Given the description of an element on the screen output the (x, y) to click on. 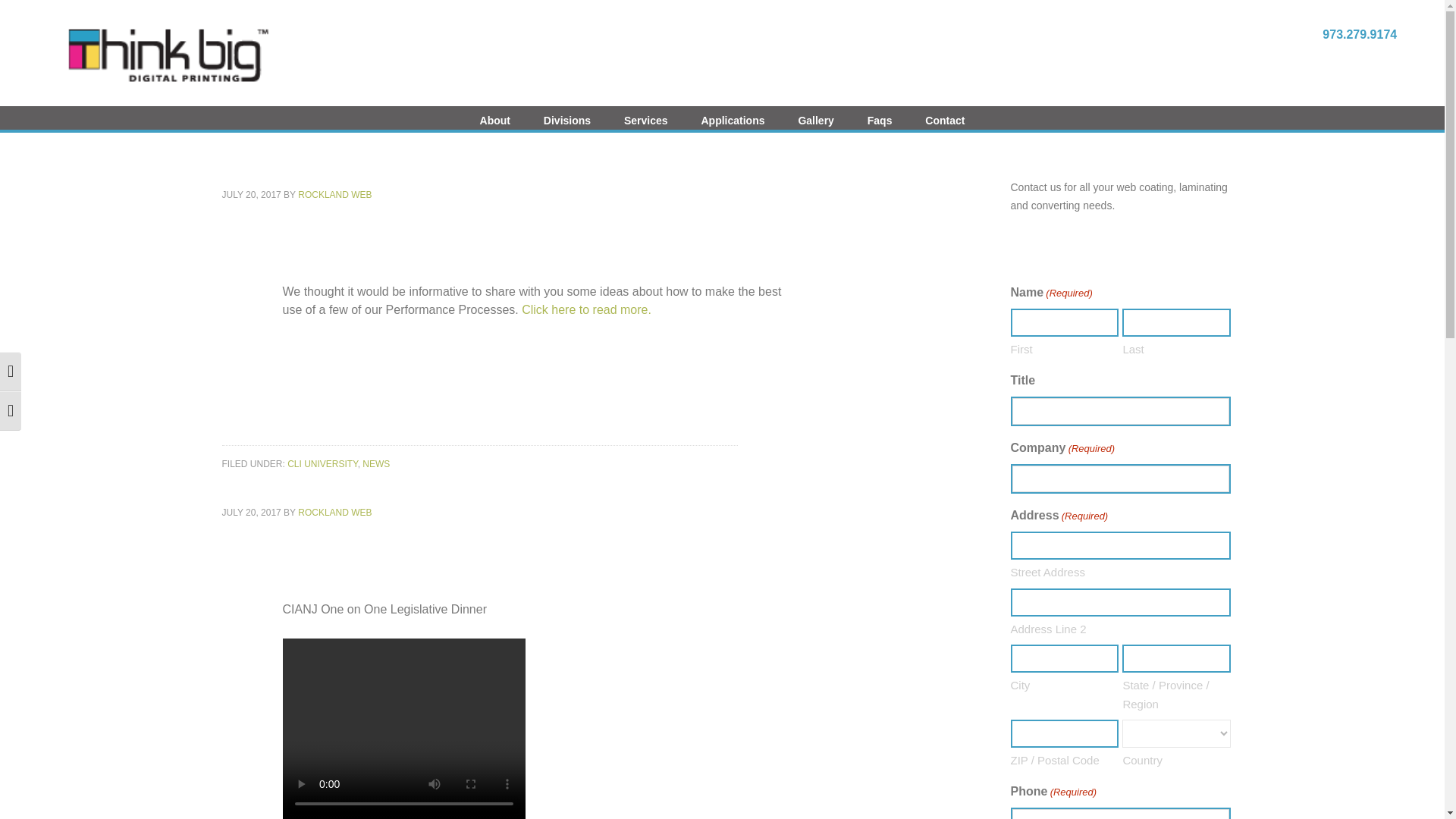
THINK BIG DP (166, 52)
TOGGLE HIGH CONTRAST (10, 371)
TOGGLE FONT SIZE (10, 410)
About (494, 125)
Divisions (566, 125)
NEWS (376, 463)
Applications (731, 125)
Gallery (815, 125)
Faqs (879, 125)
ROCKLAND WEB (334, 511)
ROCKLAND WEB (334, 194)
Click here to read more.  (587, 309)
Services (645, 125)
CLI UNIVERSITY (321, 463)
Contact (944, 125)
